Given the description of an element on the screen output the (x, y) to click on. 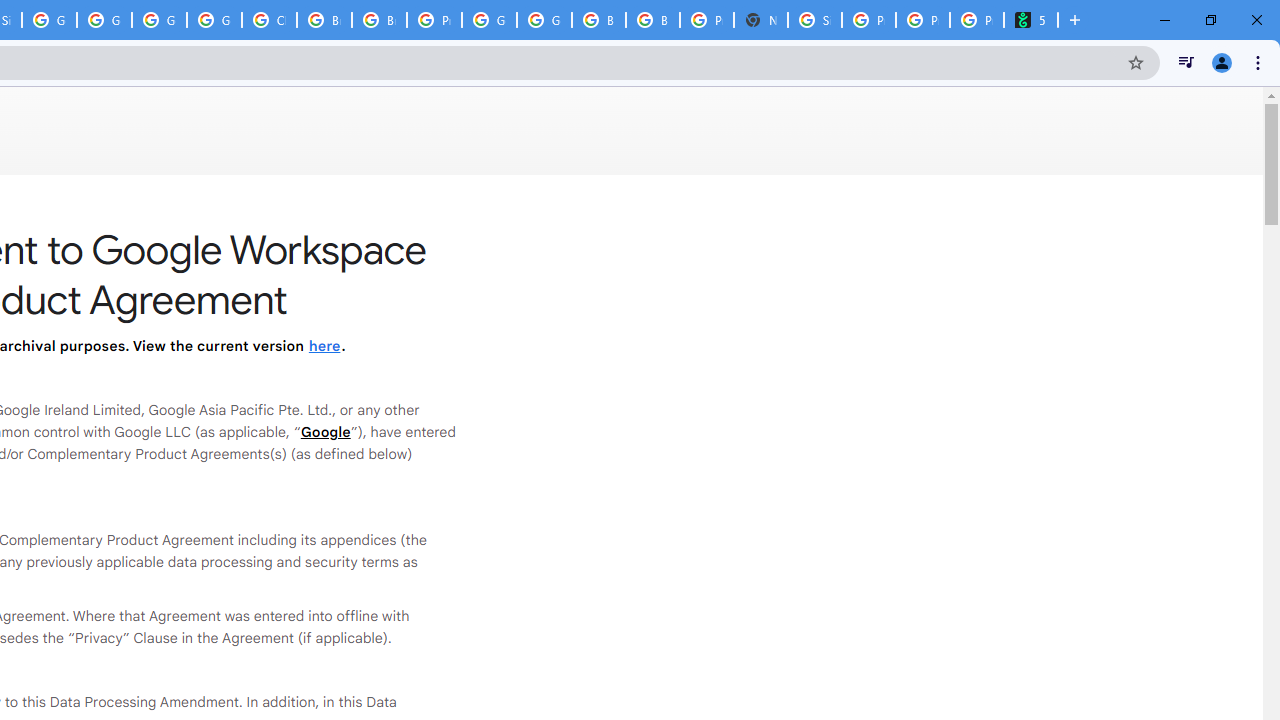
Google Cloud Platform (158, 20)
Google Cloud Platform (544, 20)
Browse Chrome as a guest - Computer - Google Chrome Help (652, 20)
Browse Chrome as a guest - Computer - Google Chrome Help (598, 20)
here (324, 345)
Google Cloud Platform (489, 20)
